Given the description of an element on the screen output the (x, y) to click on. 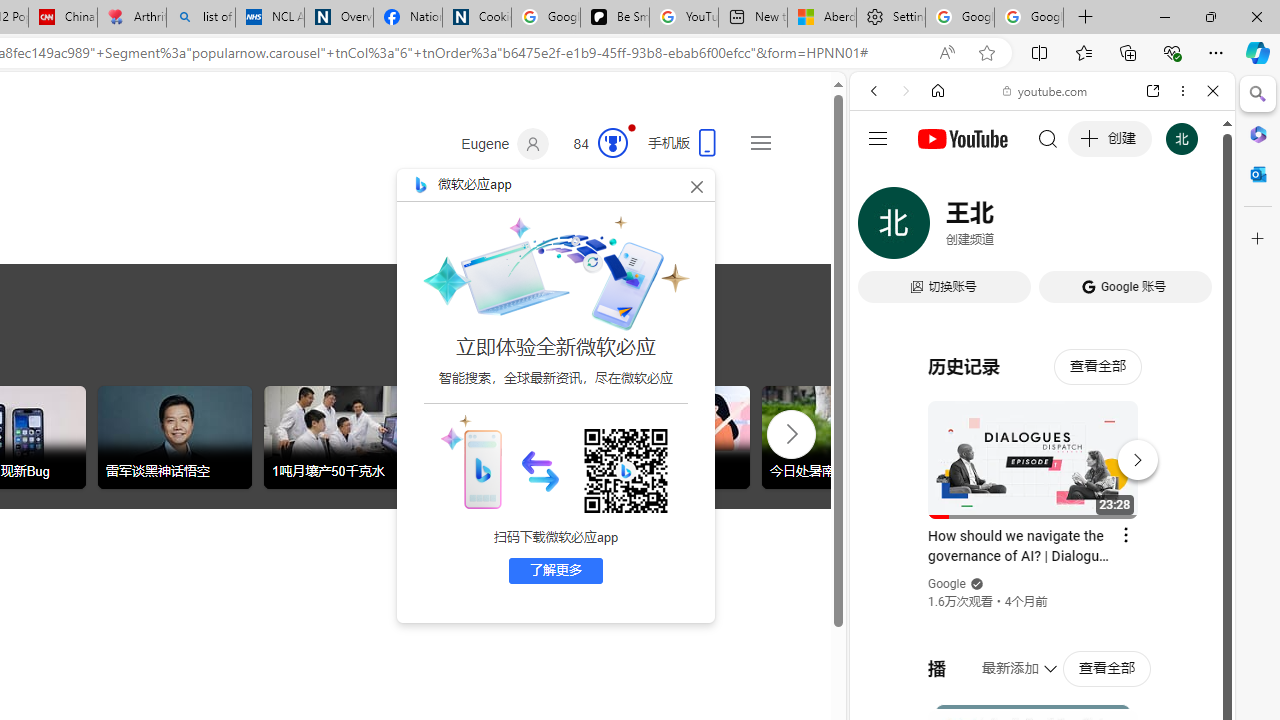
Search the web (1051, 137)
YouTube (1034, 296)
#you (1042, 445)
Settings and quick links (760, 142)
Animation (632, 127)
Forward (906, 91)
